Given the description of an element on the screen output the (x, y) to click on. 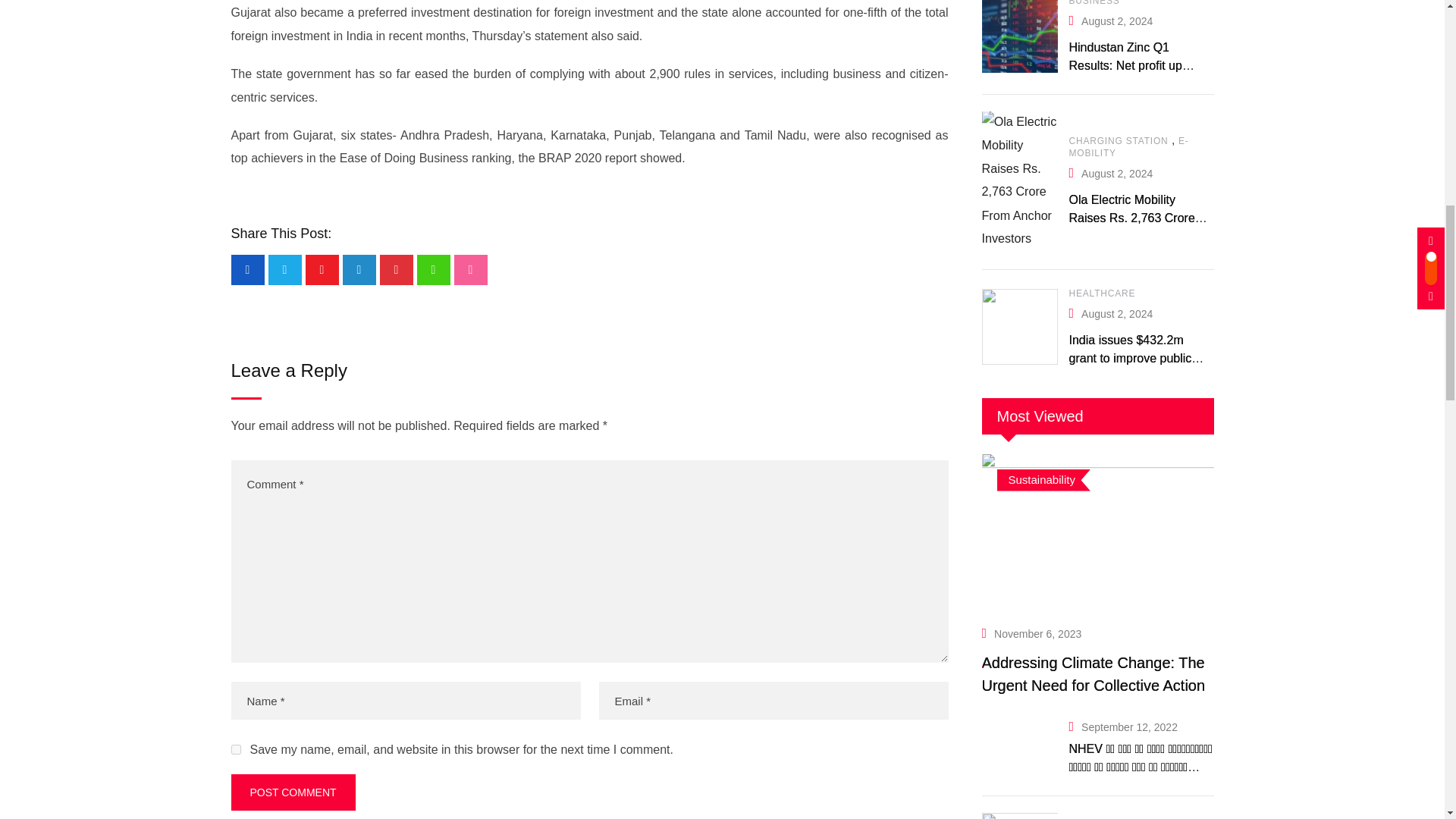
Post Comment (292, 791)
yes (235, 749)
